Given the description of an element on the screen output the (x, y) to click on. 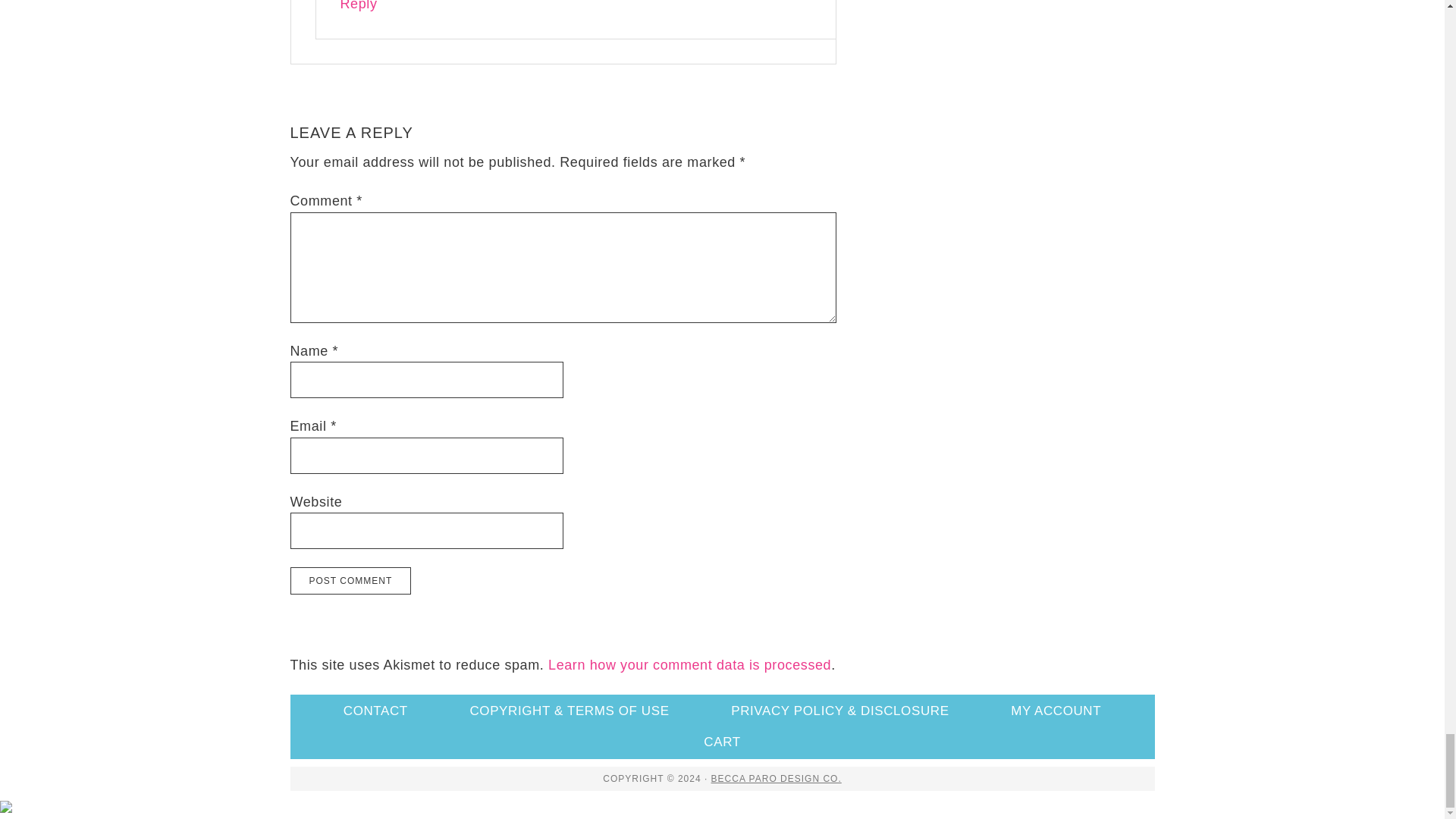
Post Comment (349, 580)
